Given the description of an element on the screen output the (x, y) to click on. 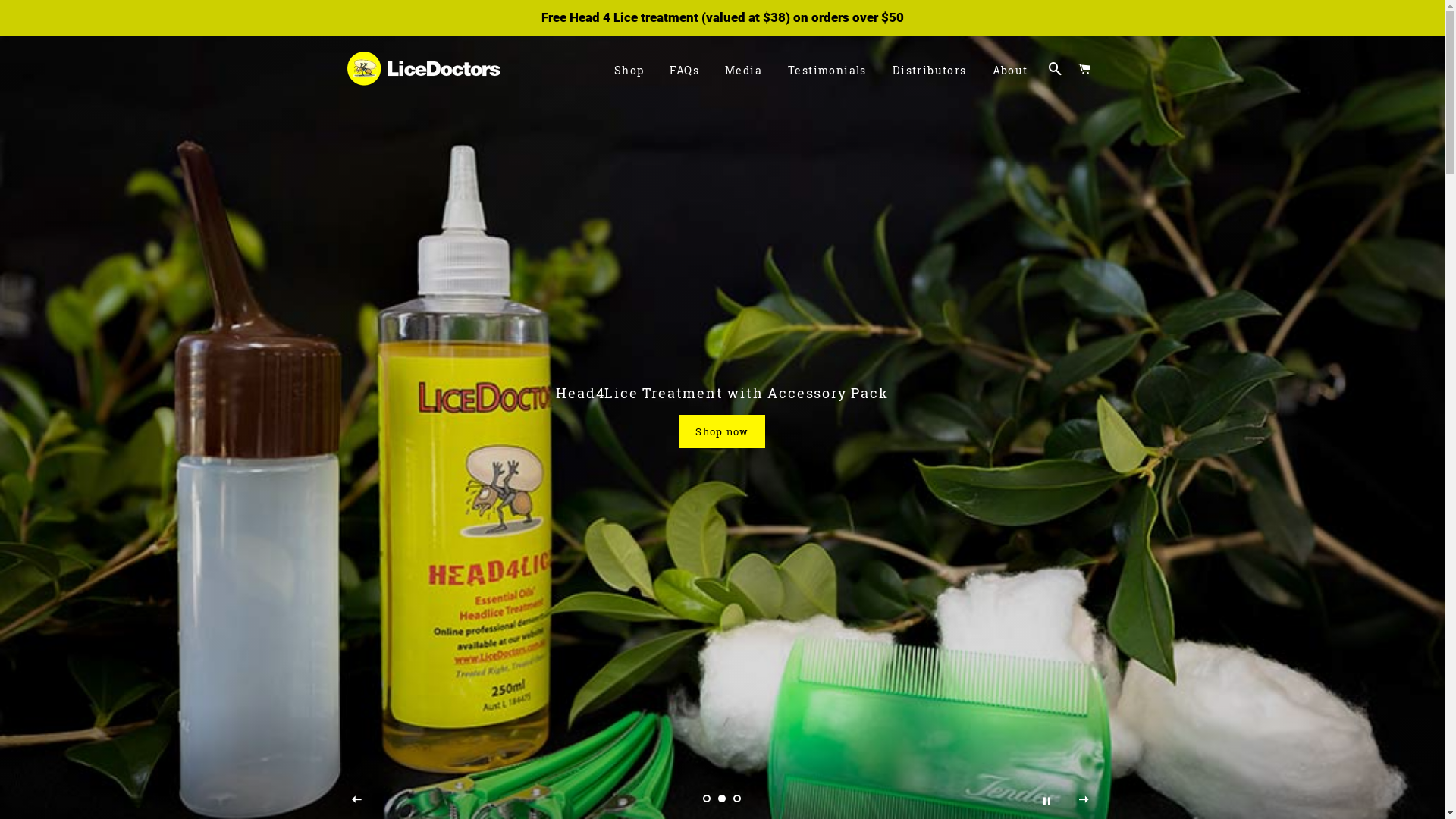
Cart Element type: text (1084, 69)
Search Element type: text (1055, 69)
Testimonials Element type: text (827, 70)
FAQs Element type: text (684, 70)
Media Element type: text (743, 70)
Shop Element type: text (628, 70)
About Element type: text (1010, 70)
Shop now Element type: text (721, 431)
Distributors Element type: text (929, 70)
